Given the description of an element on the screen output the (x, y) to click on. 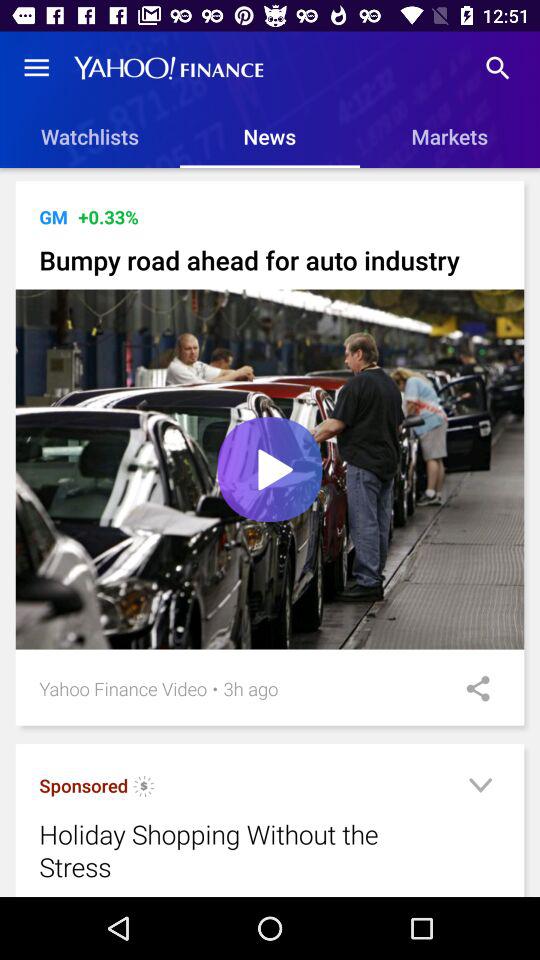
press the item next to +0.33% item (53, 216)
